Given the description of an element on the screen output the (x, y) to click on. 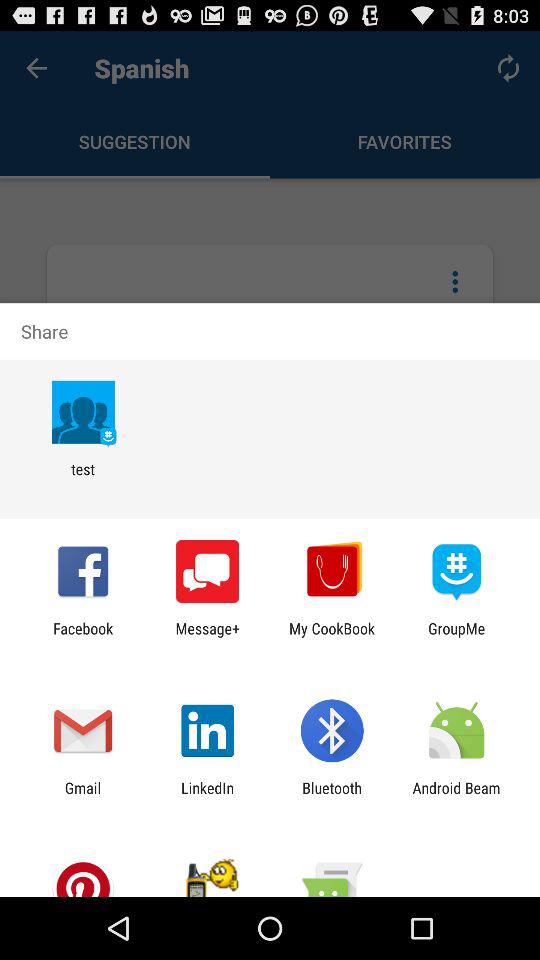
click item next to bluetooth app (456, 796)
